Given the description of an element on the screen output the (x, y) to click on. 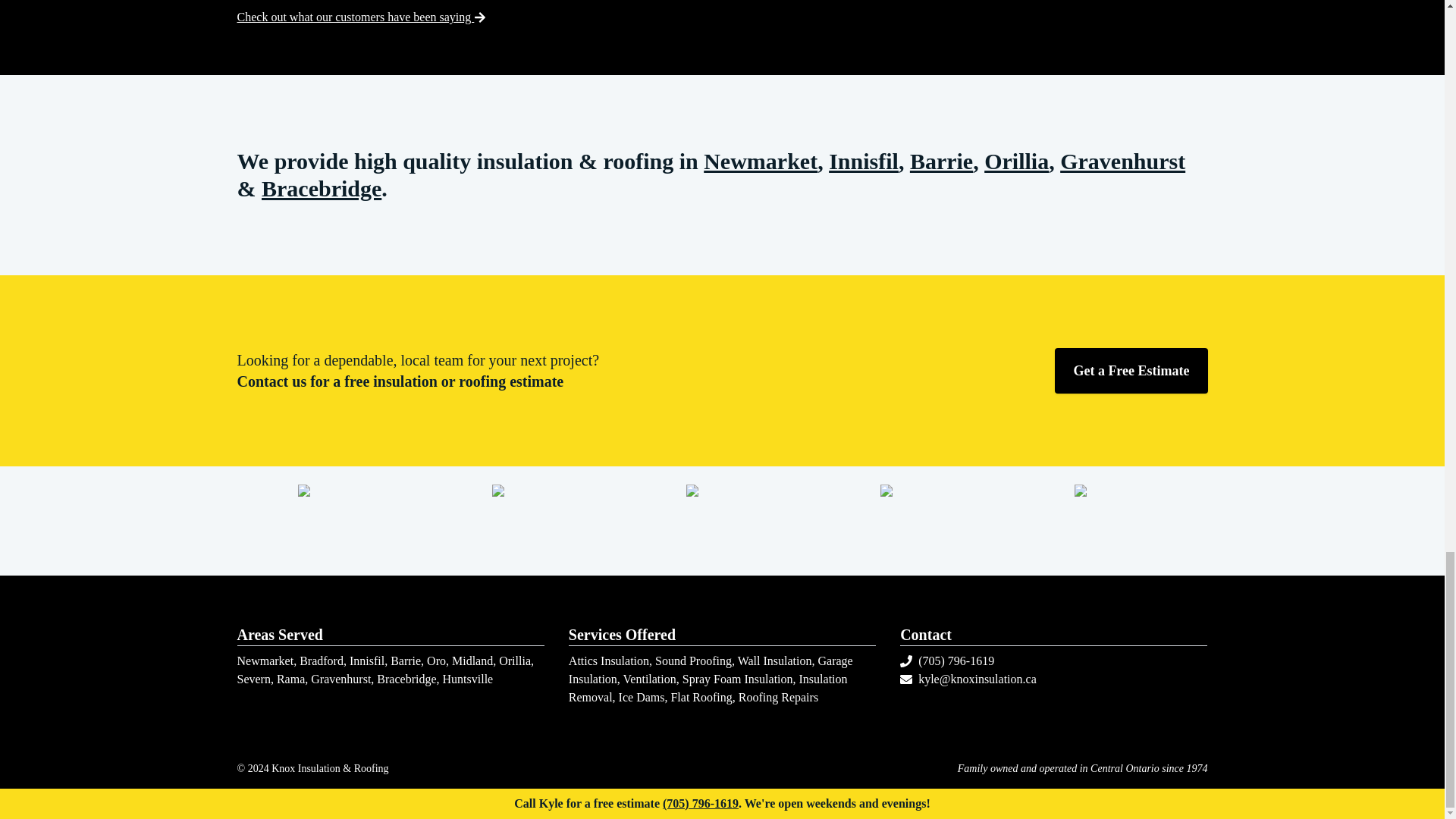
Iko (721, 520)
Thermo (1110, 520)
Get a Free Estimate (1130, 370)
Gaf (333, 520)
CertainTeed (528, 520)
Check out what our customers have been saying  (360, 17)
Ownes (915, 520)
